Given the description of an element on the screen output the (x, y) to click on. 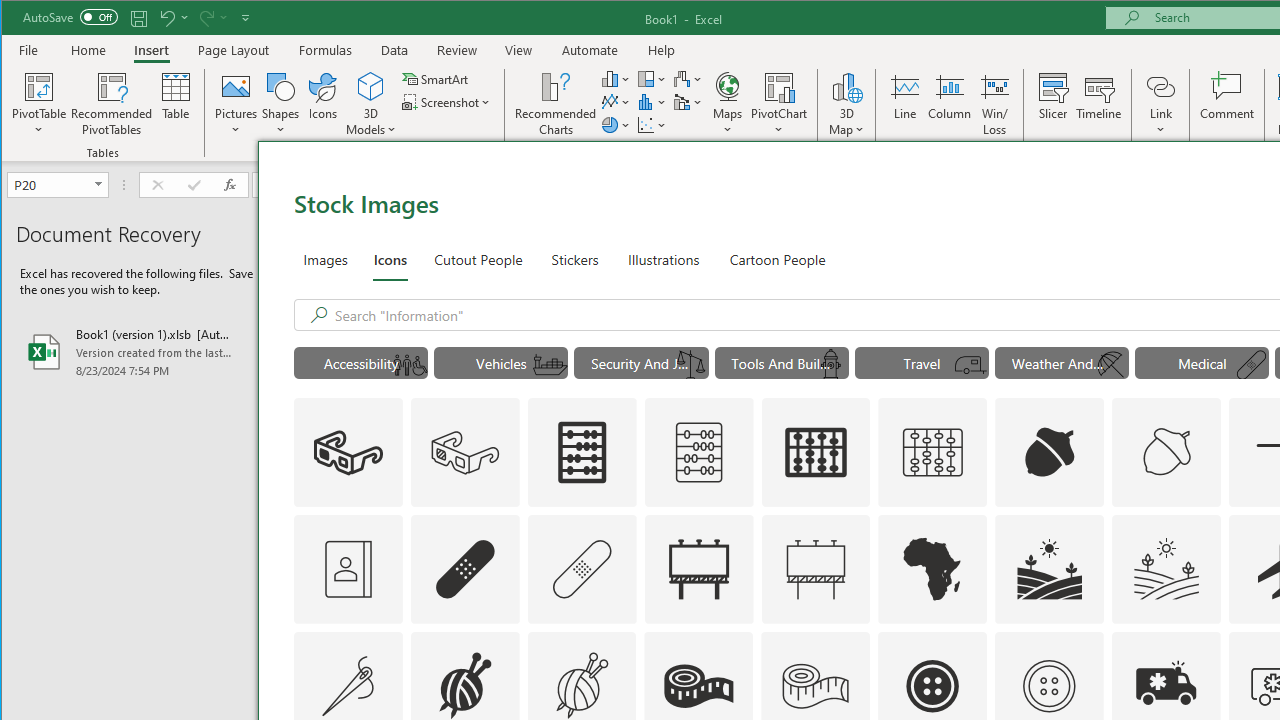
PivotChart (779, 104)
AutomationID: Icons_Acorn_M (1167, 452)
Insert Scatter (X, Y) or Bubble Chart (652, 124)
Insert Pie or Doughnut Chart (616, 124)
AutomationID: Icons_AddressBook_RTL_M (348, 568)
Insert Column or Bar Chart (616, 78)
Recommended Charts (556, 104)
3D Models (371, 86)
AutomationID: Icons_Abacus_M (698, 452)
Table (175, 104)
